Given the description of an element on the screen output the (x, y) to click on. 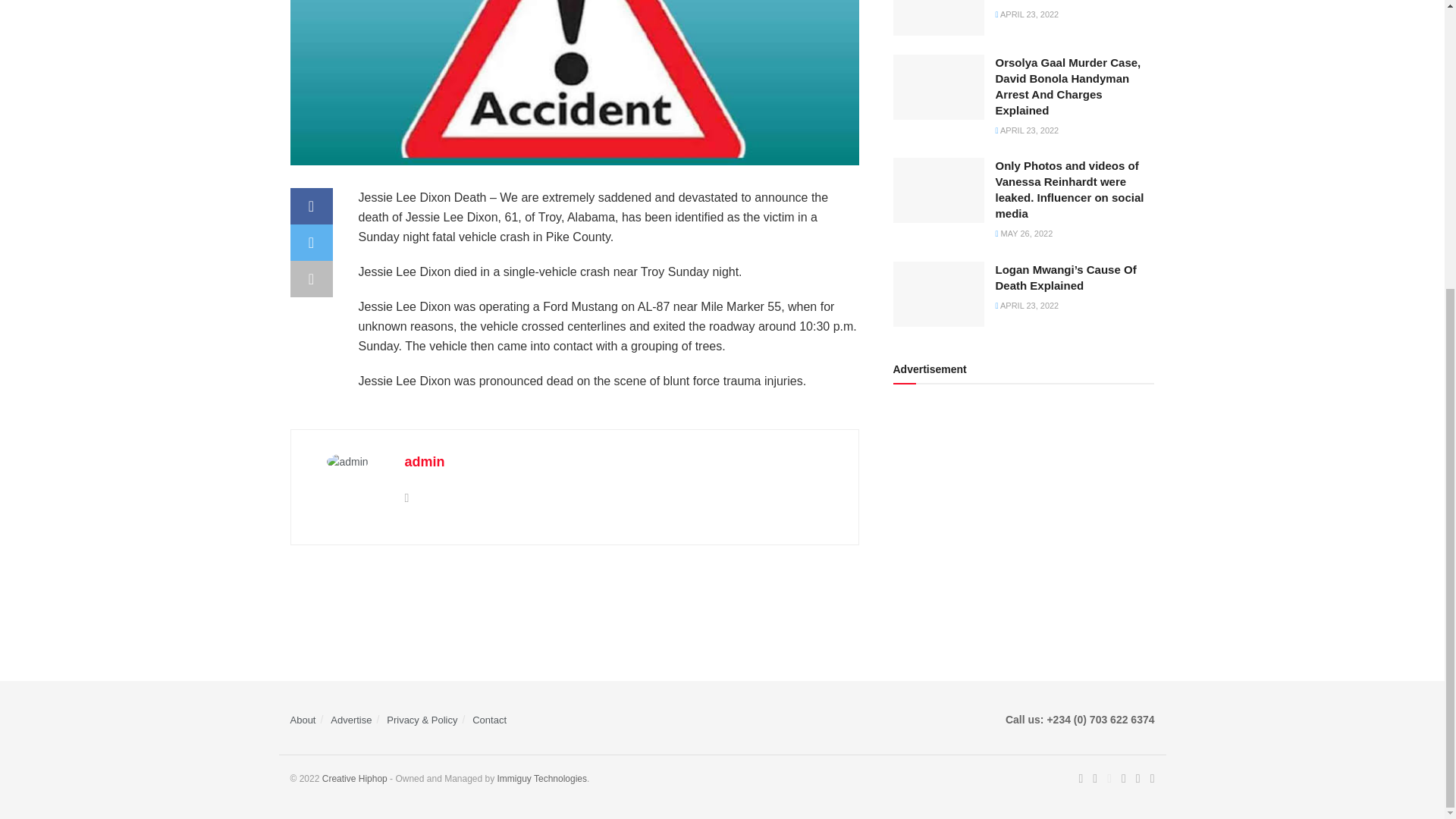
Owned and Managed (354, 778)
Advertisement (1023, 513)
Creative Hiphop (542, 778)
